Given the description of an element on the screen output the (x, y) to click on. 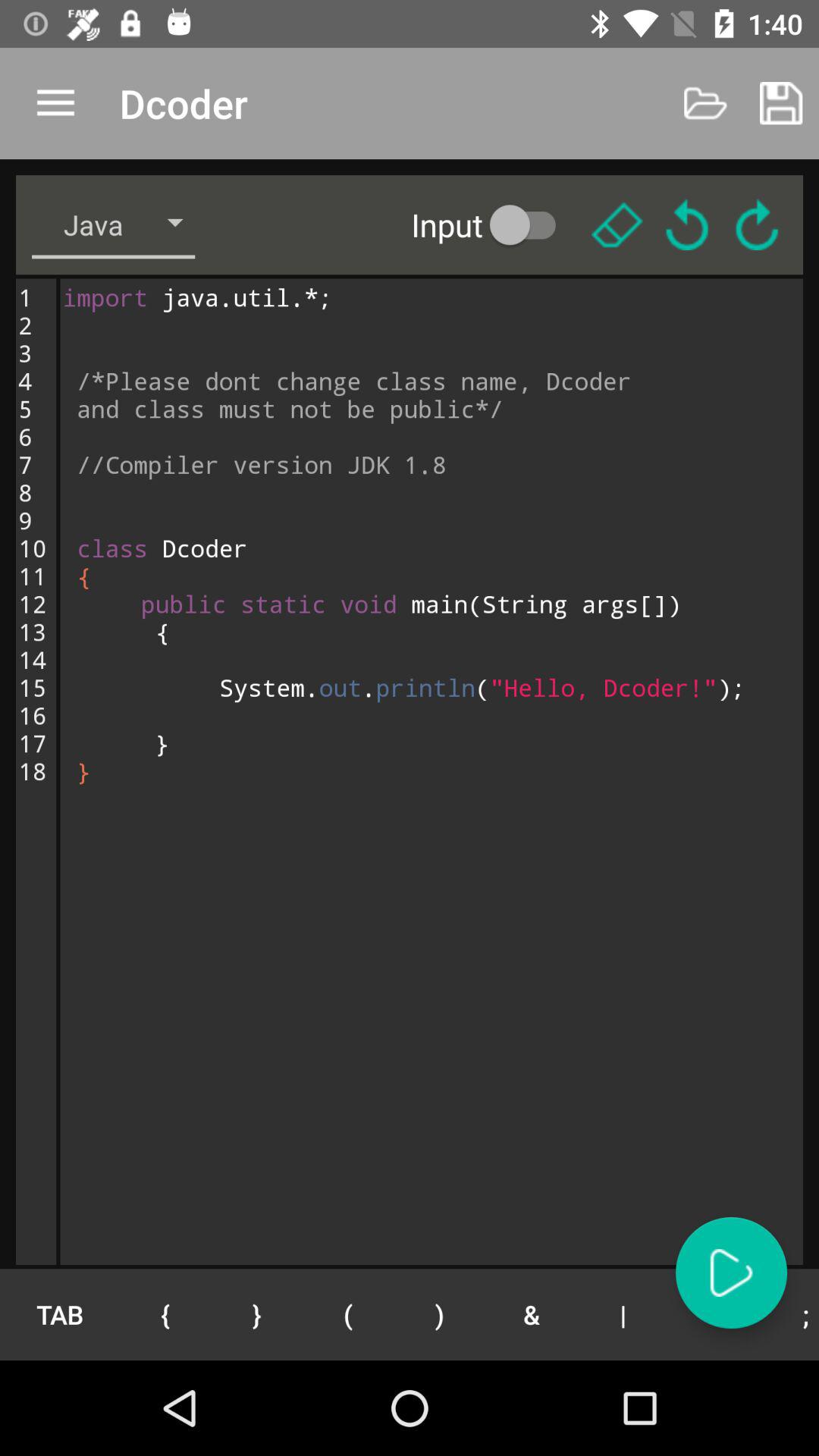
refresh button (756, 224)
